Given the description of an element on the screen output the (x, y) to click on. 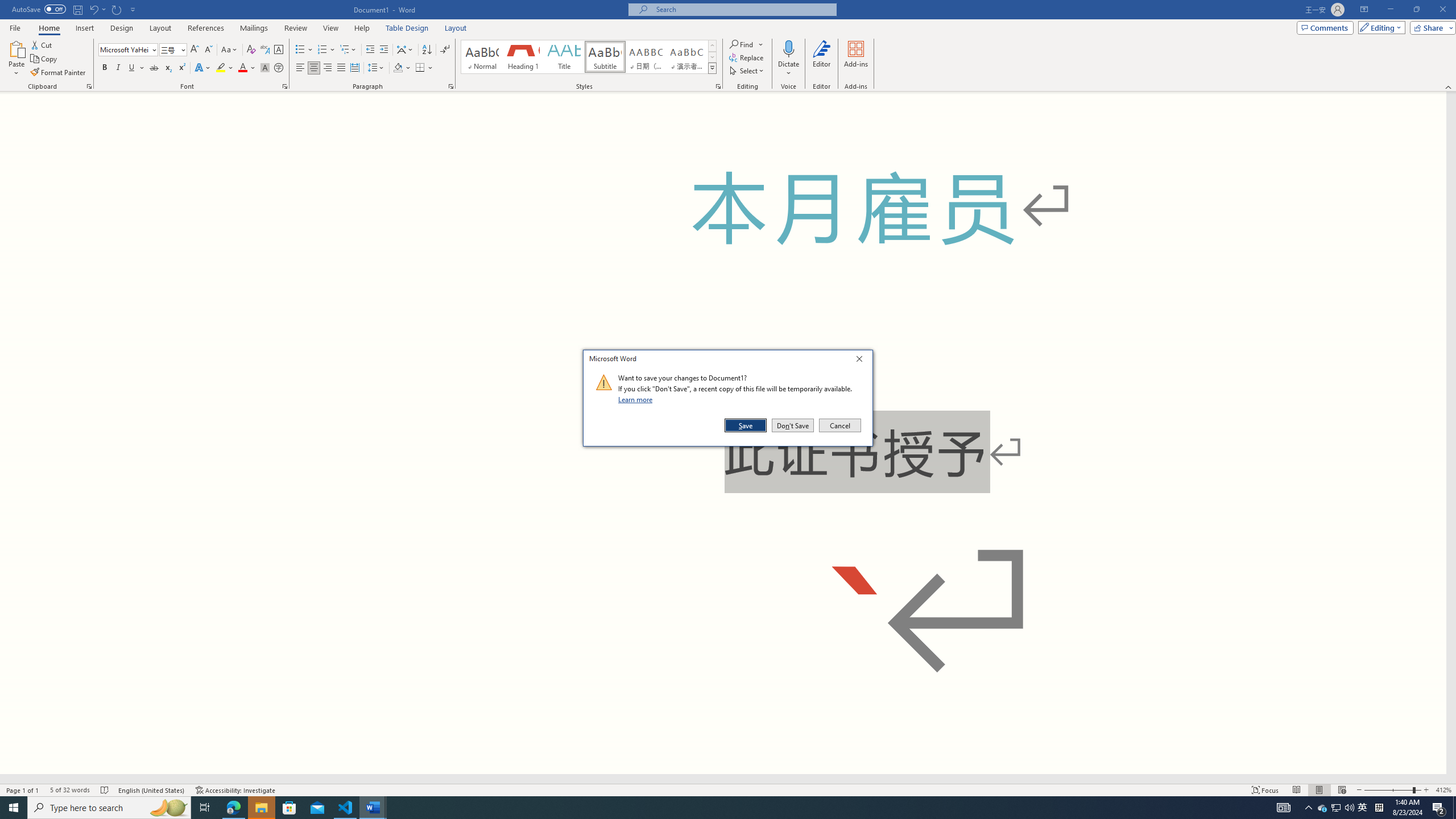
Distributed (354, 67)
Row up (711, 45)
Visual Studio Code - 1 running window (345, 807)
Title (564, 56)
Clear Formatting (250, 49)
